Given the description of an element on the screen output the (x, y) to click on. 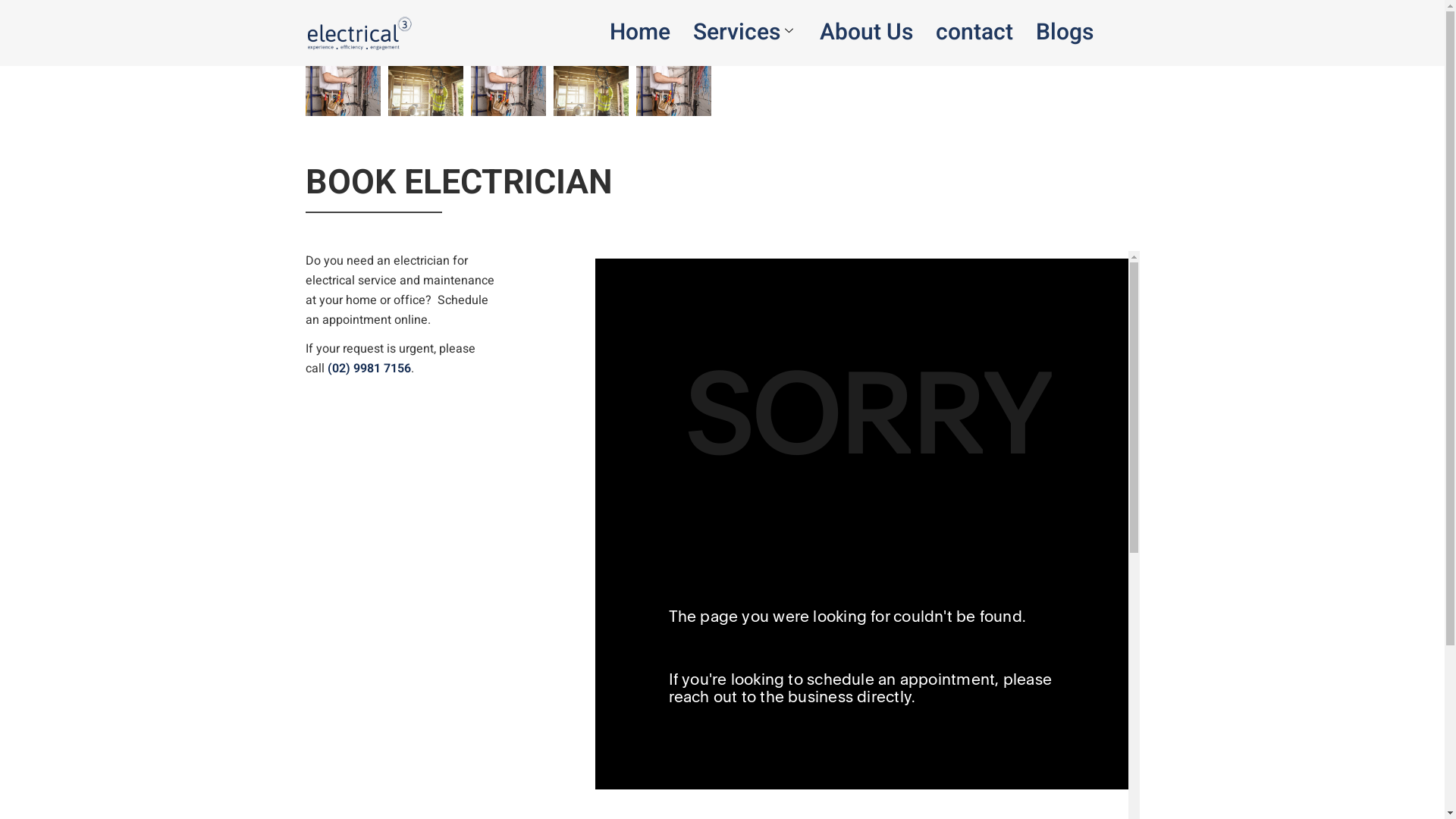
contact Element type: text (974, 32)
(02) 9981 7156 Element type: text (369, 368)
About Us Element type: text (866, 32)
Blogs Element type: text (1064, 32)
Services Element type: text (744, 32)
Home Element type: text (639, 32)
